Given the description of an element on the screen output the (x, y) to click on. 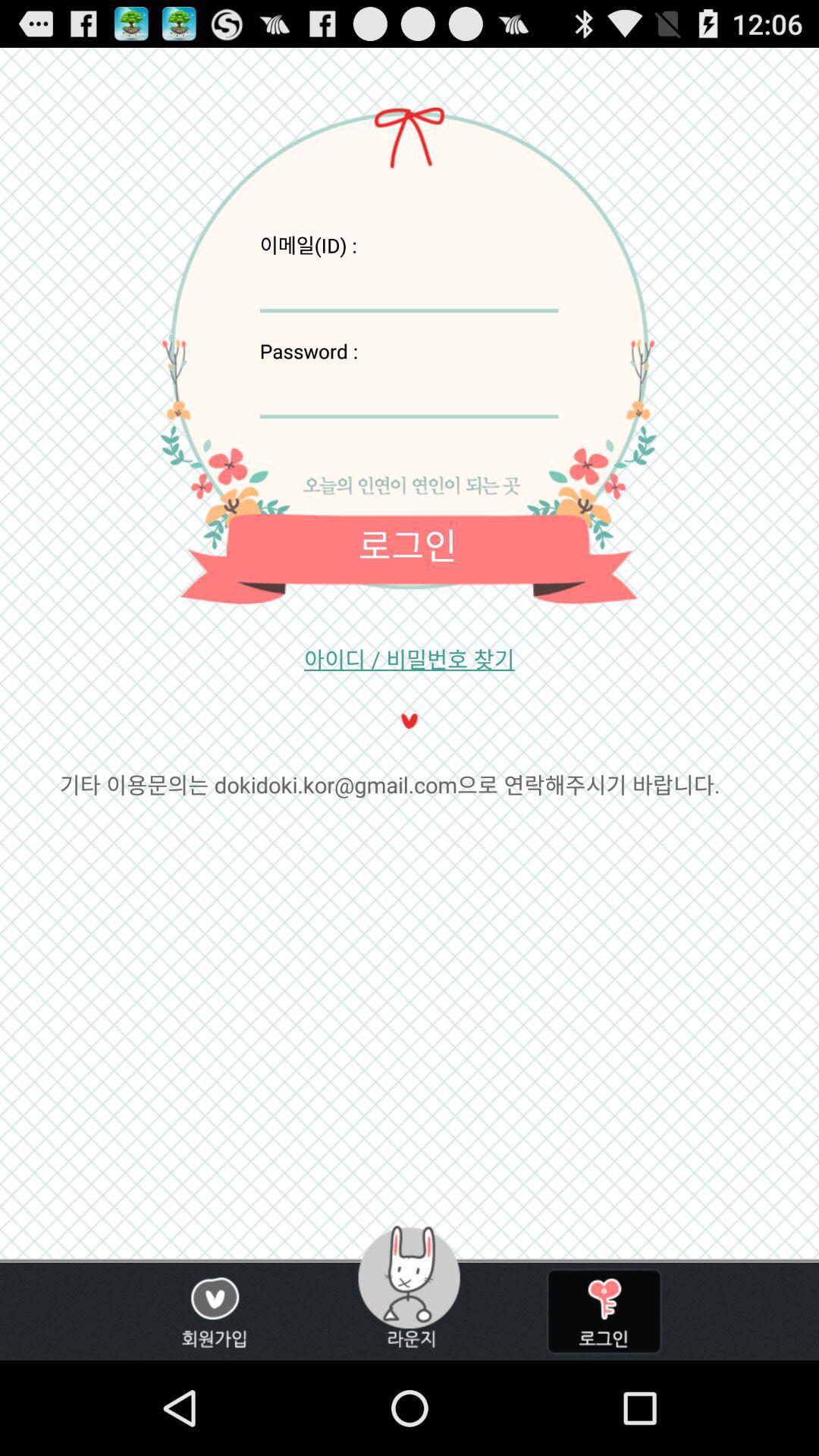
insert password (408, 391)
